Given the description of an element on the screen output the (x, y) to click on. 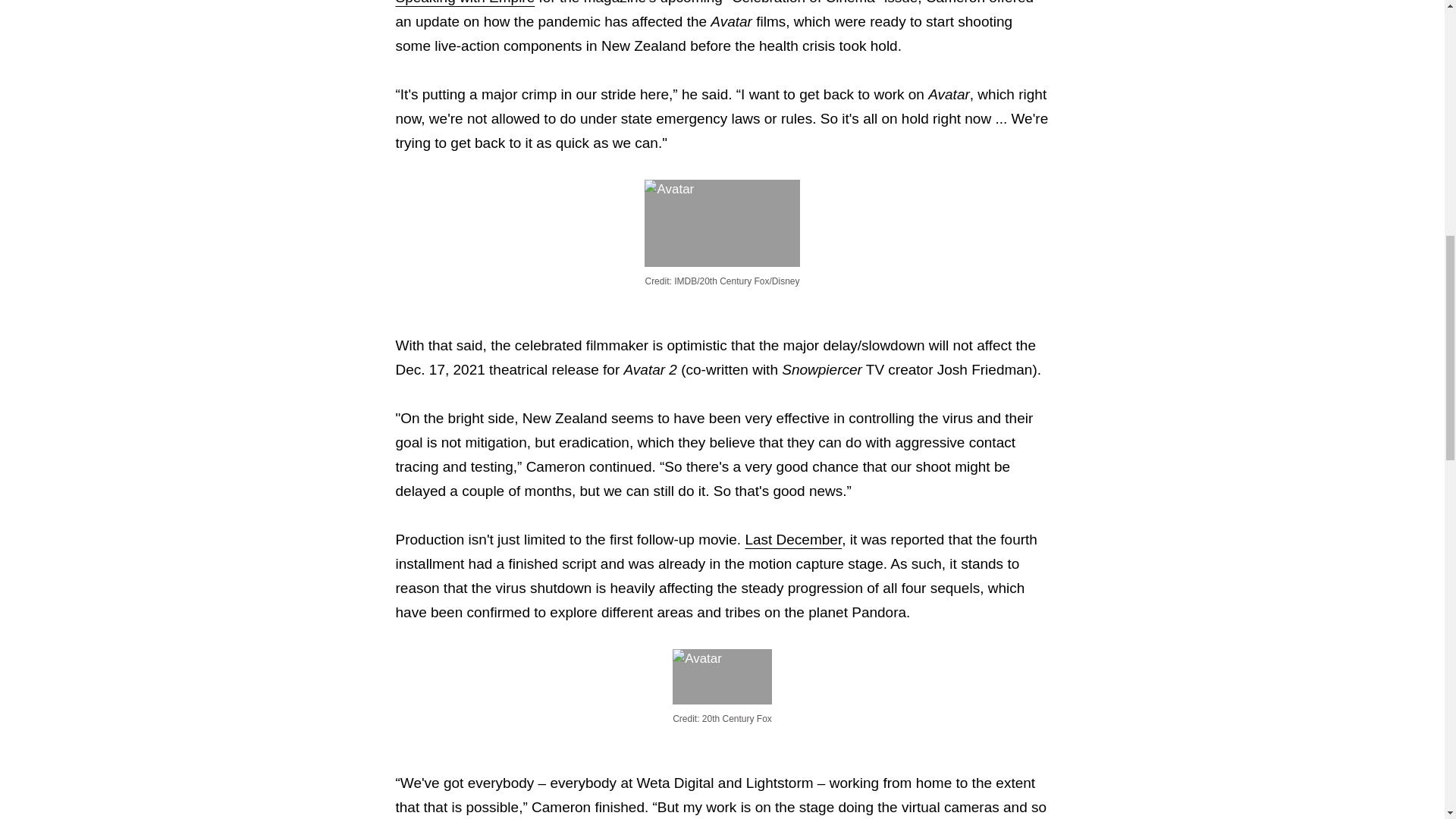
Last December (792, 539)
Speaking with Empire (465, 2)
